Given the description of an element on the screen output the (x, y) to click on. 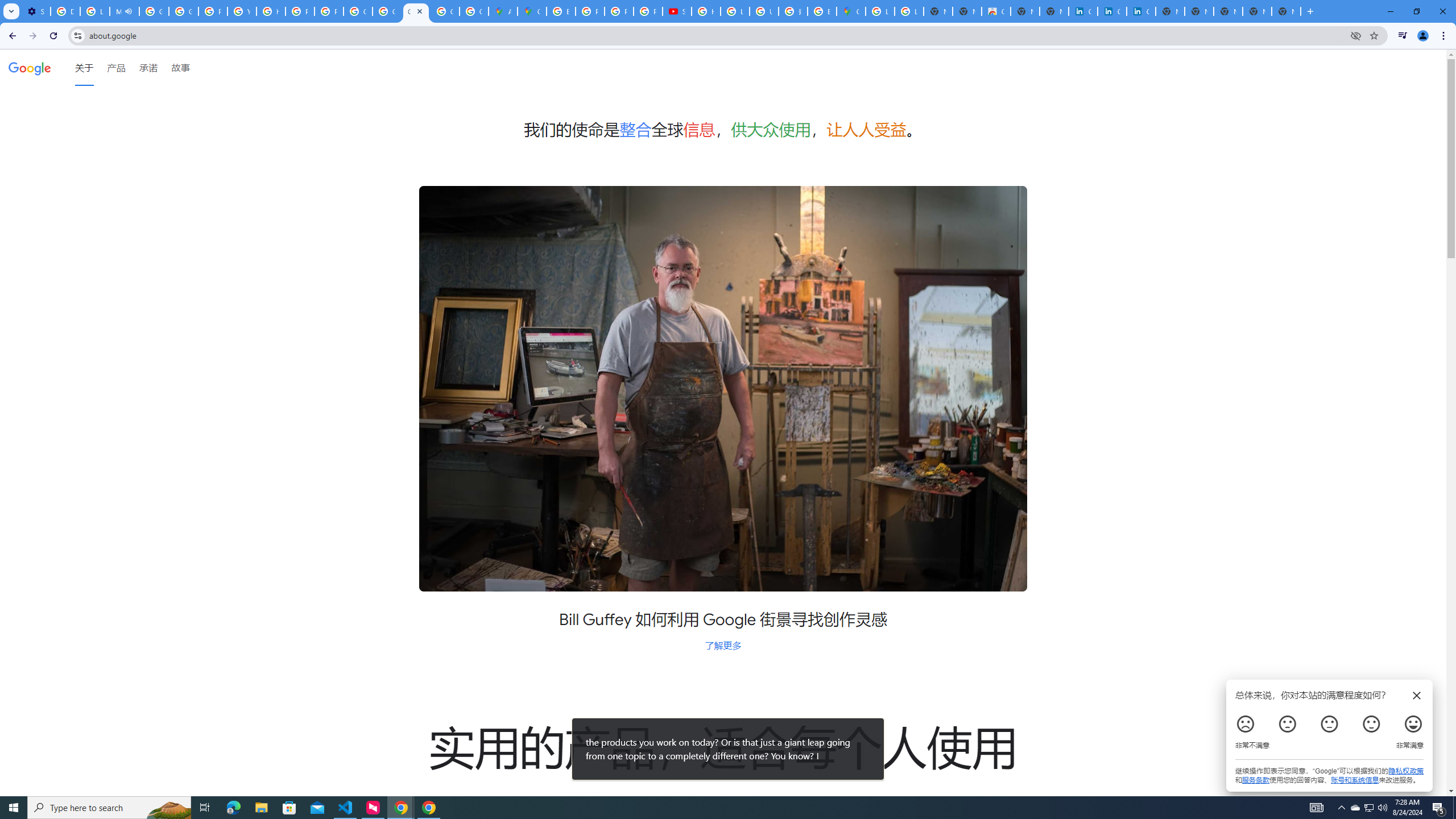
YouTube (242, 11)
Privacy Help Center - Policies Help (300, 11)
Chrome Web Store (996, 11)
Blogger Policies and Guidelines - Transparency Center (560, 11)
Delete photos & videos - Computer - Google Photos Help (65, 11)
New Tab (1286, 11)
